Given the description of an element on the screen output the (x, y) to click on. 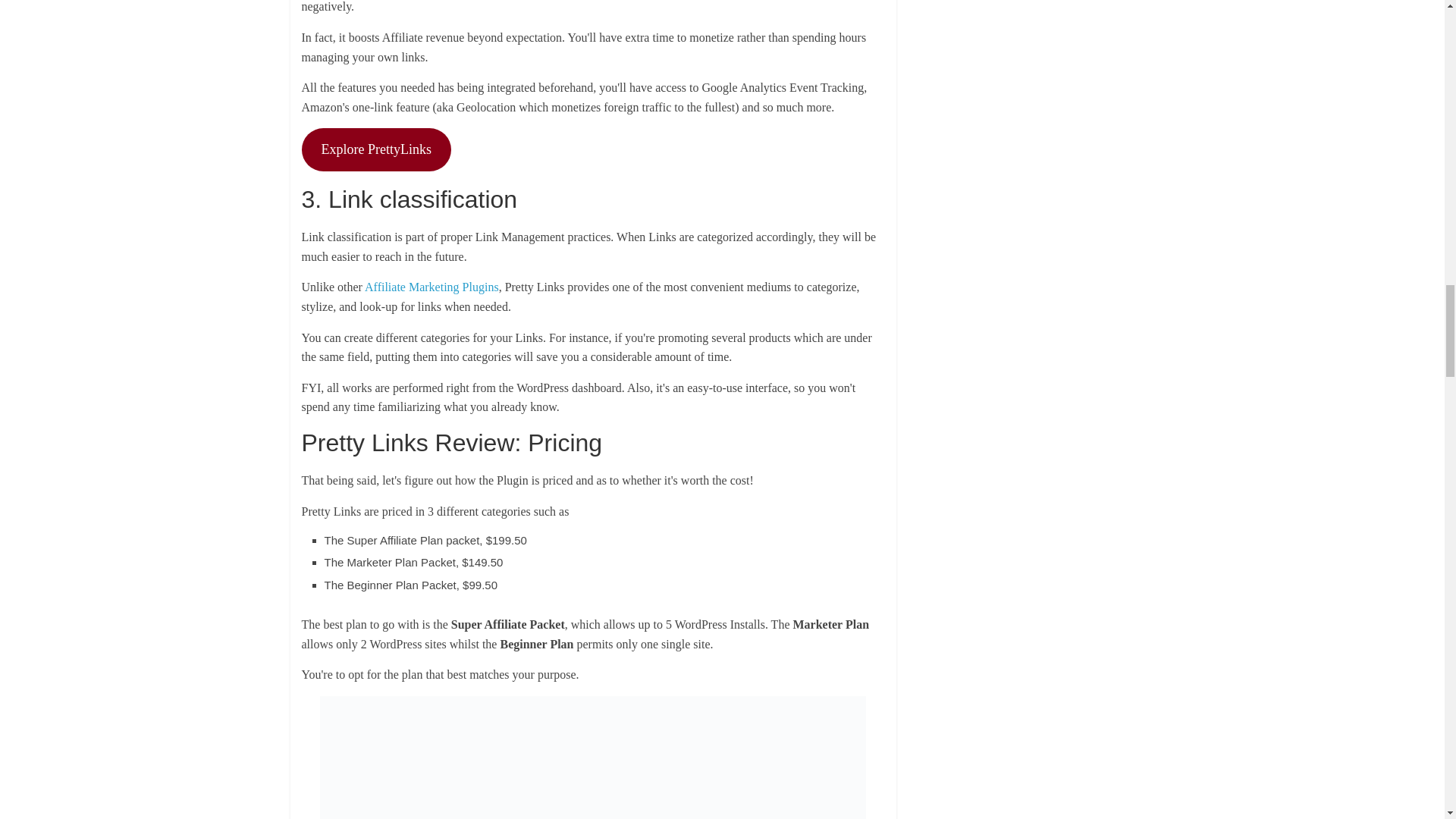
Affiliate Marketing Plugins (432, 286)
Explore PrettyLinks (376, 149)
